Given the description of an element on the screen output the (x, y) to click on. 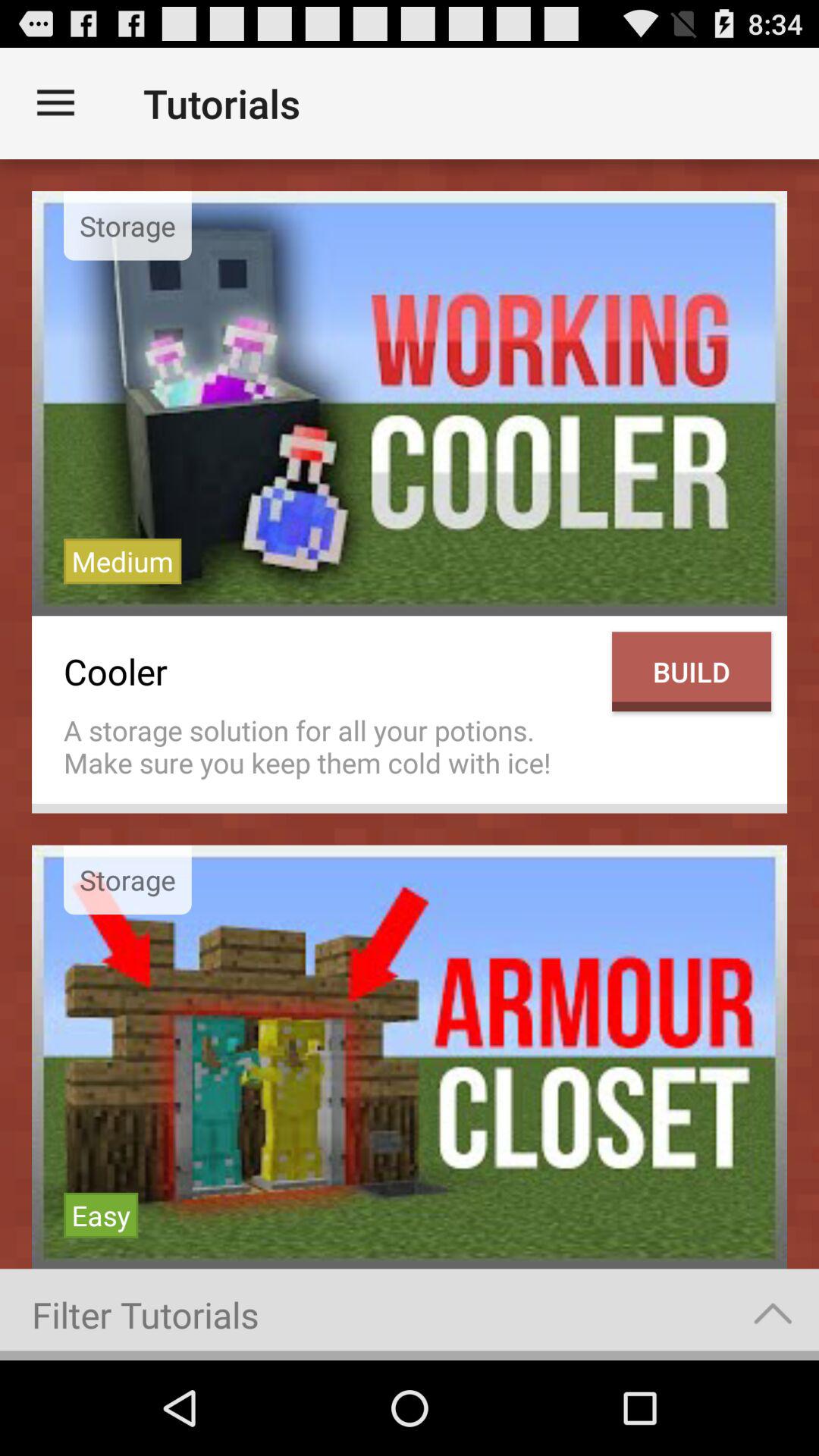
select the build on the right (691, 671)
